Given the description of an element on the screen output the (x, y) to click on. 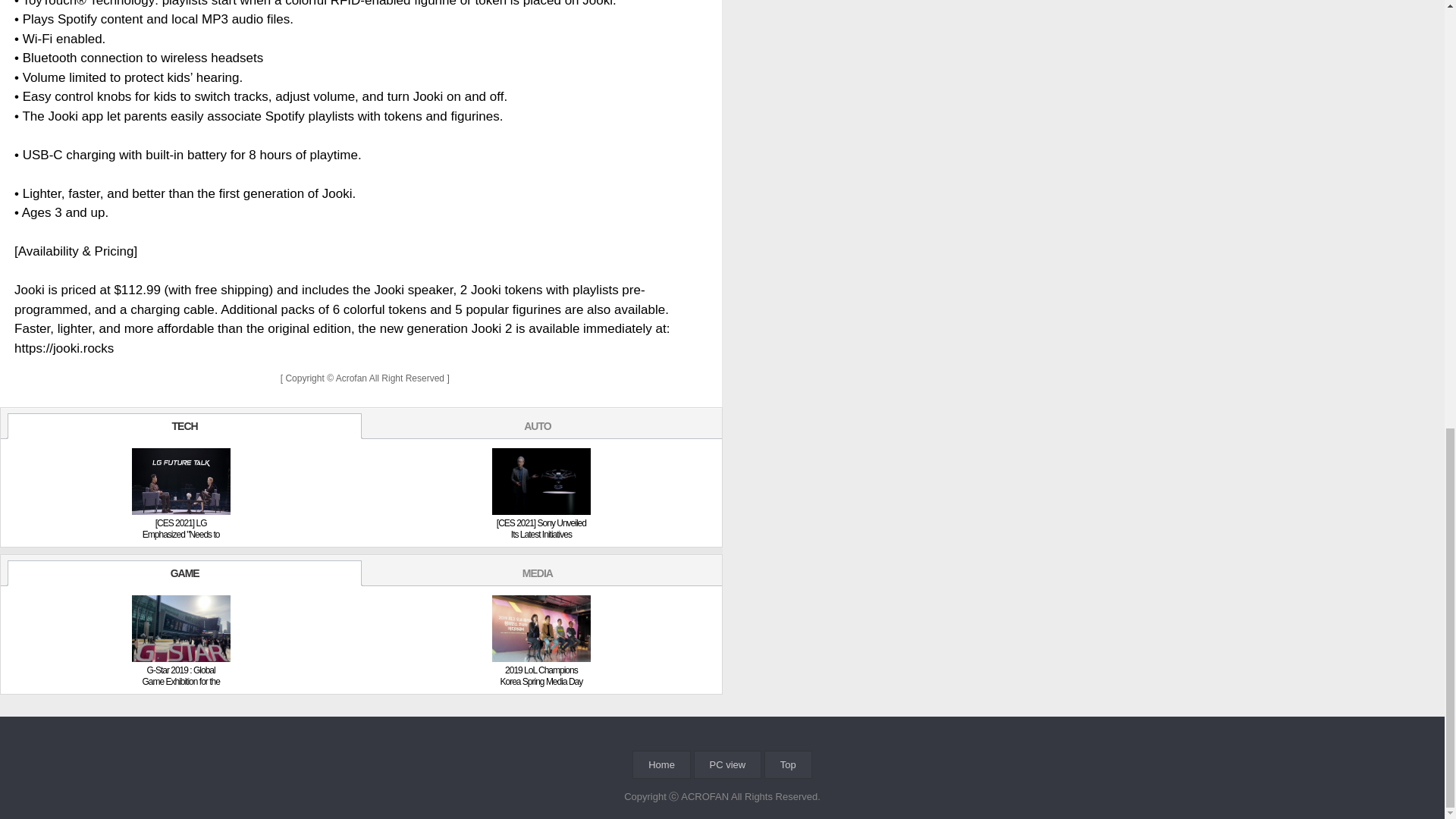
PC view (727, 764)
MEDIA (537, 573)
AUTO (537, 425)
2019 LoL Champions Korea Spring Media Day (541, 676)
TECH (184, 425)
GAME (184, 573)
Top (787, 764)
Home (661, 764)
